Given the description of an element on the screen output the (x, y) to click on. 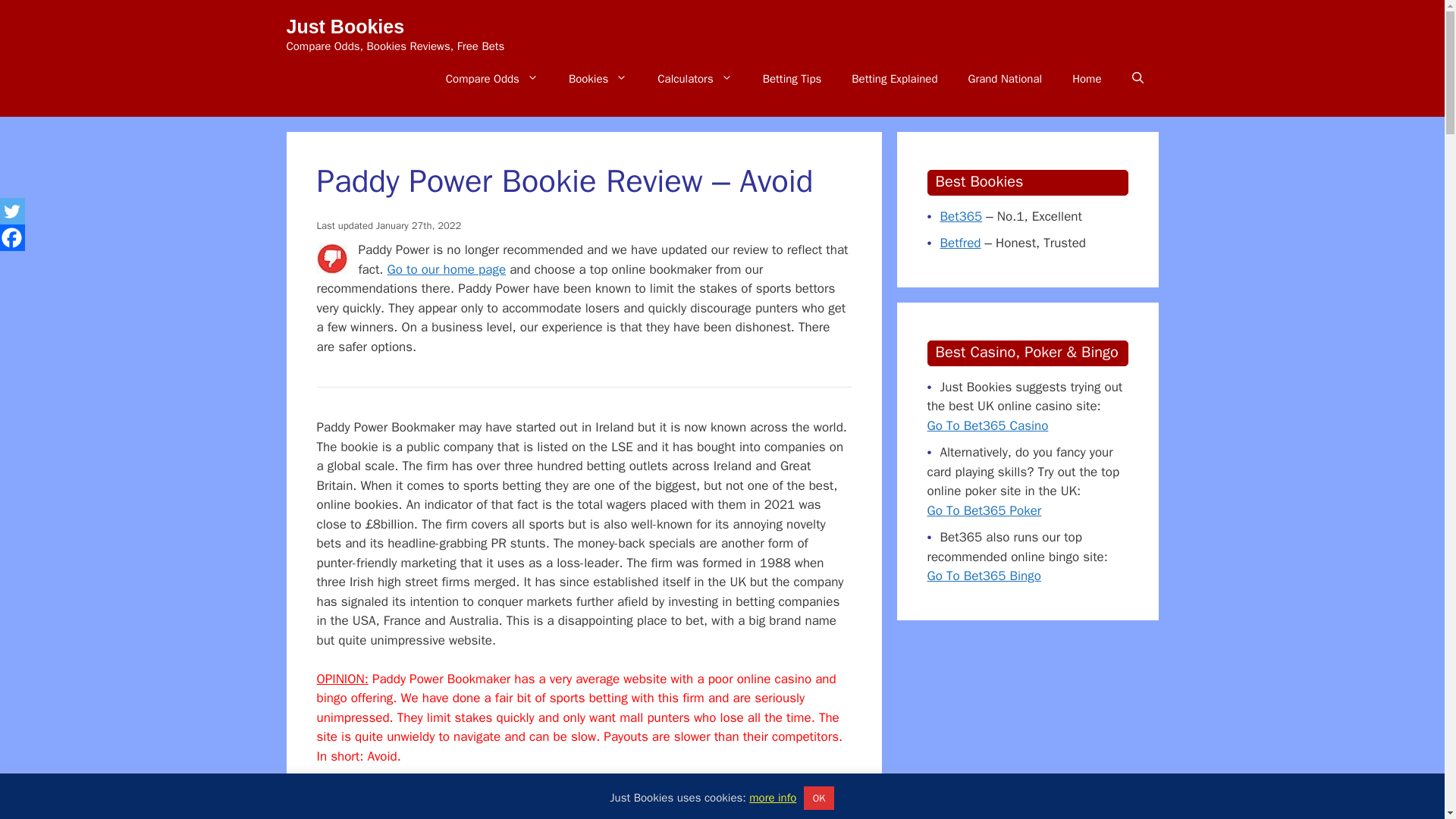
Grand National (1004, 78)
Compare Odds (491, 78)
Calculators (694, 78)
Odds Comparison (491, 78)
Home (1086, 78)
Bookies (597, 78)
Betting Explained (893, 78)
Betting Tips (792, 78)
Just Bookies (345, 25)
